Given the description of an element on the screen output the (x, y) to click on. 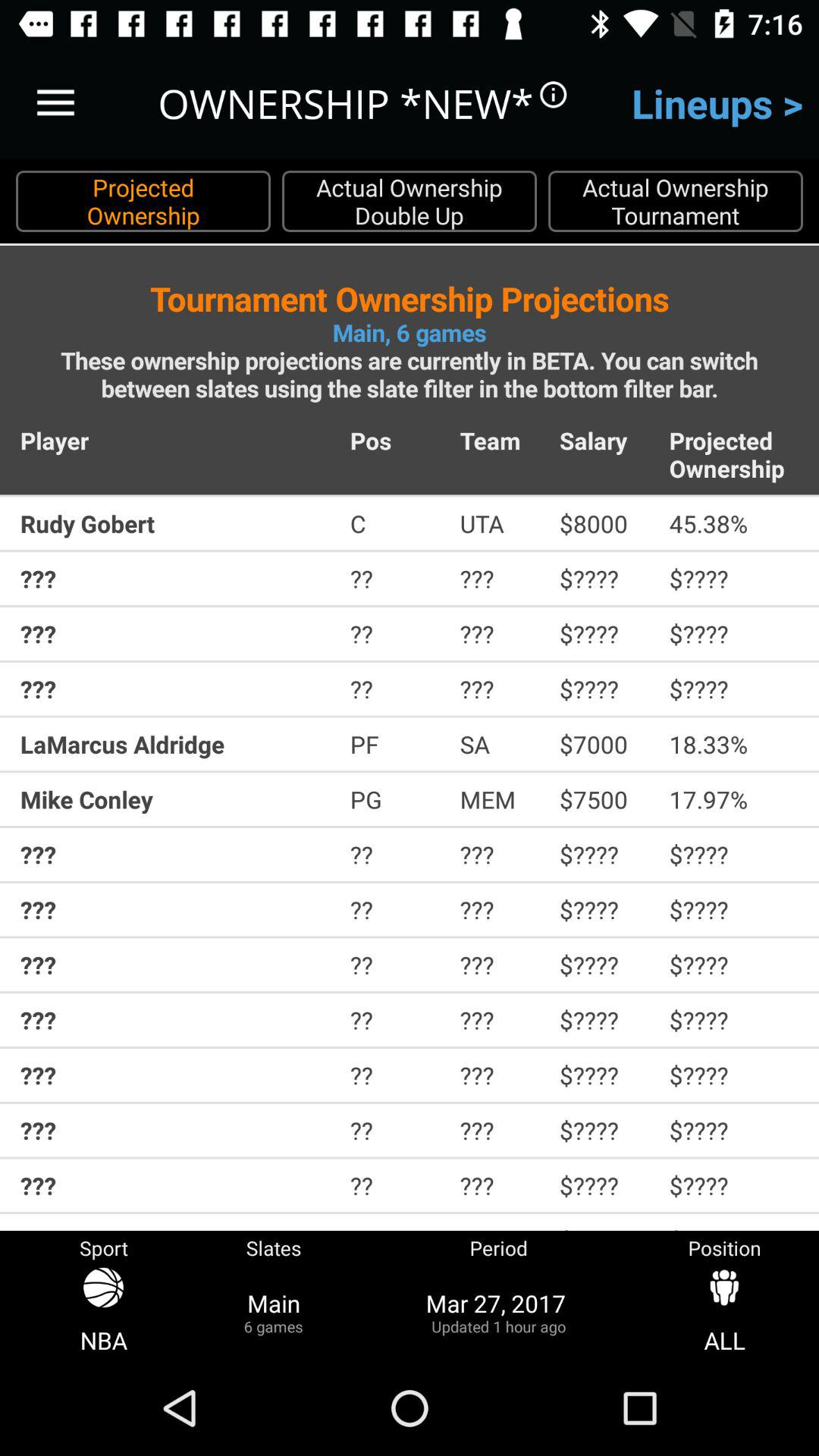
launch the icon to the right of the lamarcus aldridge icon (394, 744)
